Given the description of an element on the screen output the (x, y) to click on. 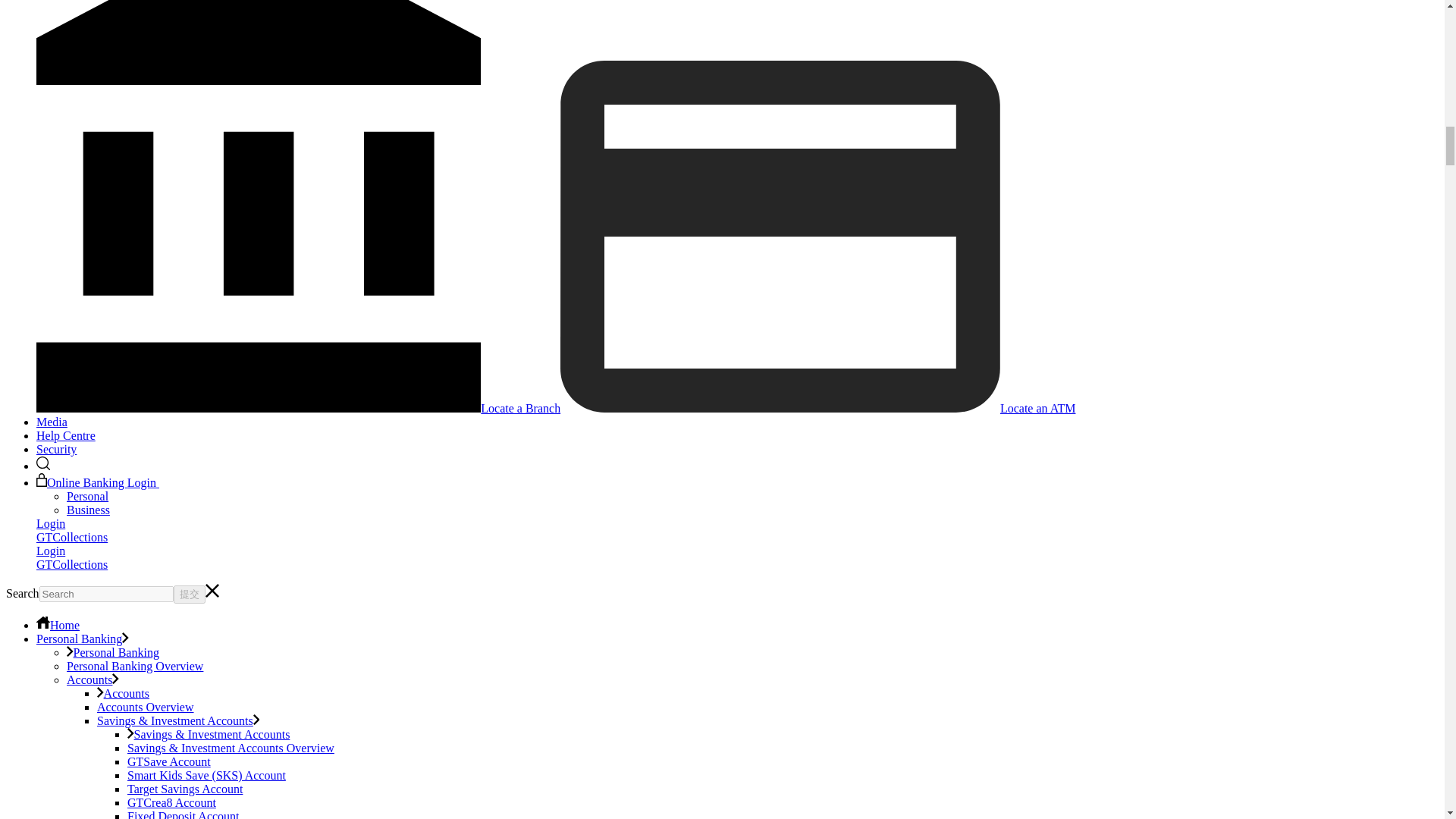
Login (50, 522)
GTCollections (71, 563)
Security (56, 449)
Accounts (123, 693)
GTCollections (71, 536)
Personal (86, 495)
Personal Banking Overview (134, 666)
Accounts Overview (145, 707)
GTSave Account (169, 761)
Personal Banking (82, 638)
Locate a Branch (298, 408)
Media (51, 421)
Login (50, 550)
Home (58, 625)
Locate an ATM (817, 408)
